Given the description of an element on the screen output the (x, y) to click on. 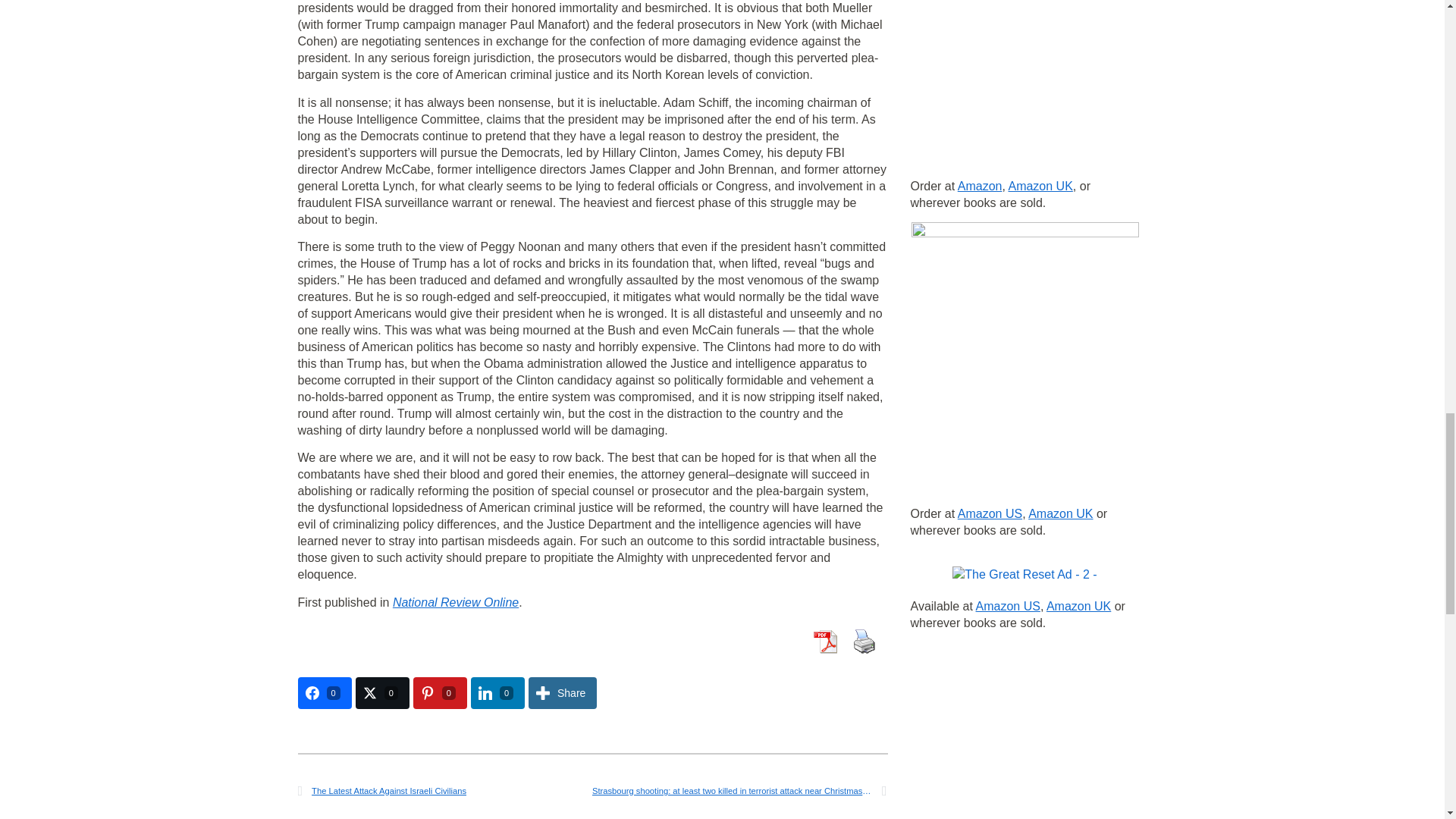
Share on Share (562, 693)
Print Content (863, 641)
0 (323, 693)
Share (562, 693)
0 (382, 693)
Share on Twitter (382, 693)
0 (497, 693)
Share on LinkedIn (497, 693)
National Review Online (455, 602)
Share on Pinterest (440, 693)
